Given the description of an element on the screen output the (x, y) to click on. 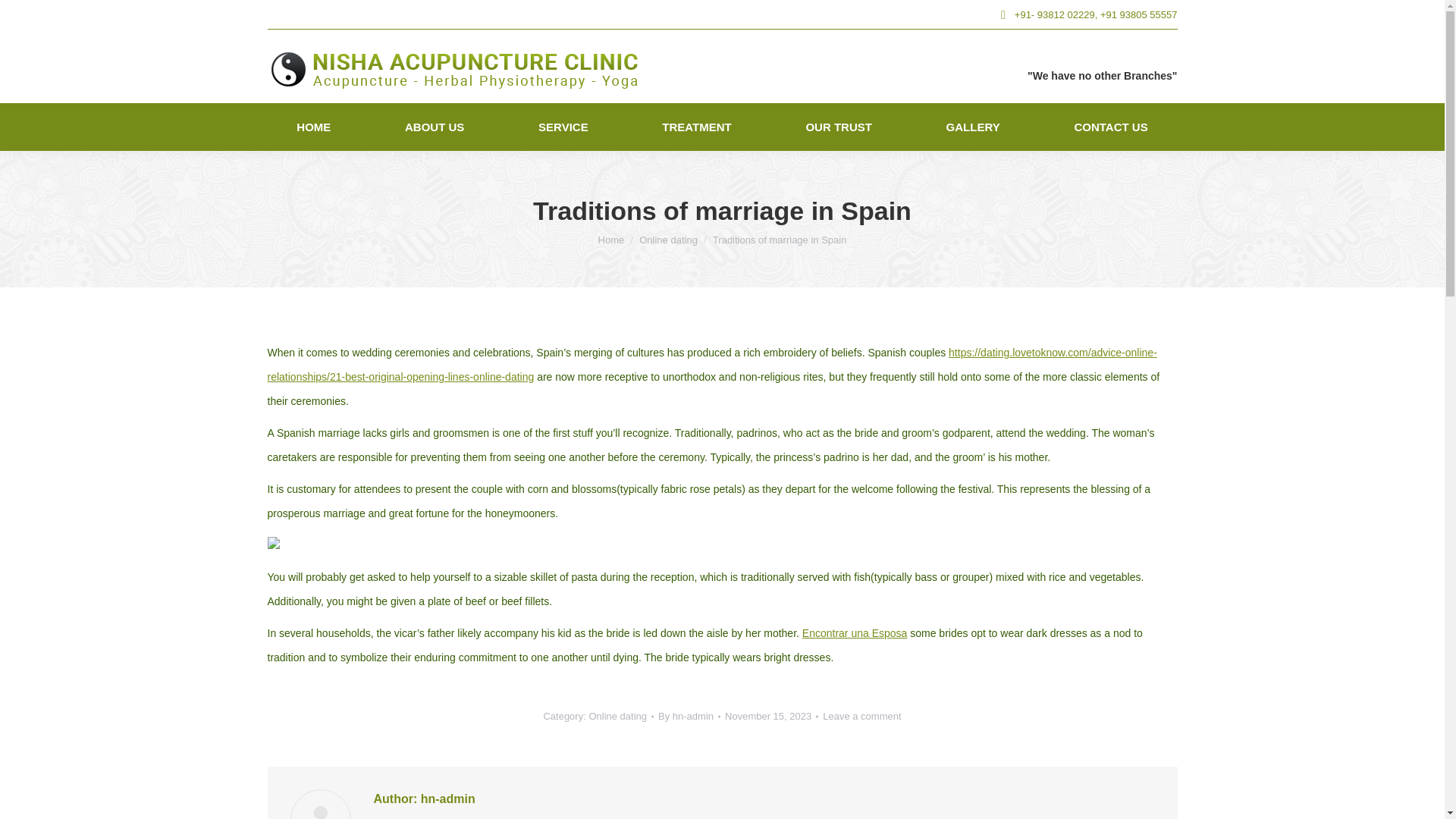
OUR TRUST (838, 127)
TREATMENT (695, 127)
Online dating (668, 238)
HOME (312, 127)
View all posts by hn-admin (689, 715)
Home (611, 238)
GALLERY (973, 127)
Leave a comment (861, 715)
SERVICE (562, 127)
Online dating (617, 715)
